Given the description of an element on the screen output the (x, y) to click on. 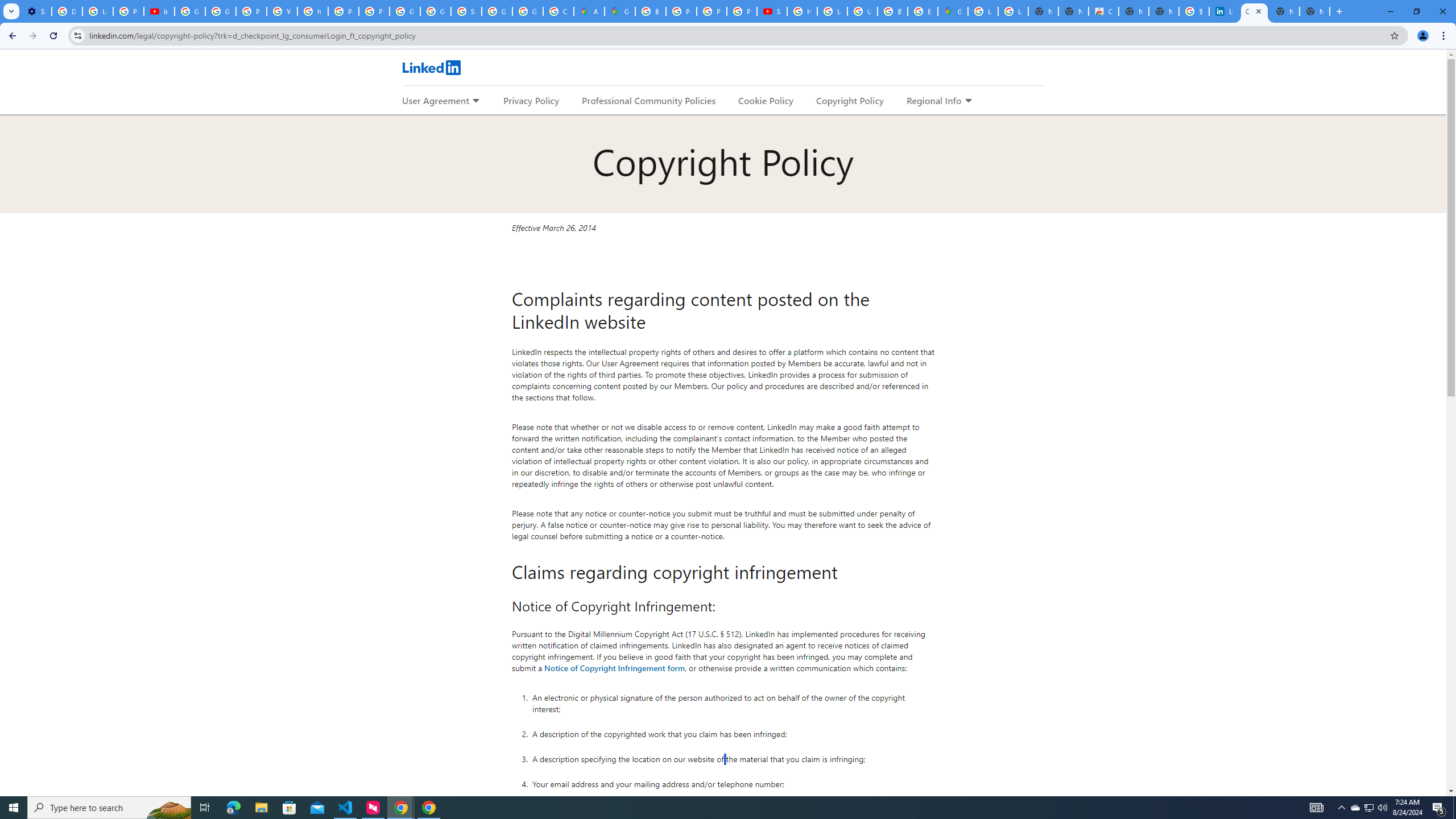
Copyright Policy (849, 100)
Privacy Help Center - Policies Help (711, 11)
Delete photos & videos - Computer - Google Photos Help (66, 11)
Sign in - Google Accounts (465, 11)
Privacy Help Center - Policies Help (343, 11)
Explore new street-level details - Google Maps Help (922, 11)
Expand to show more links for Regional Info (967, 101)
